Given the description of an element on the screen output the (x, y) to click on. 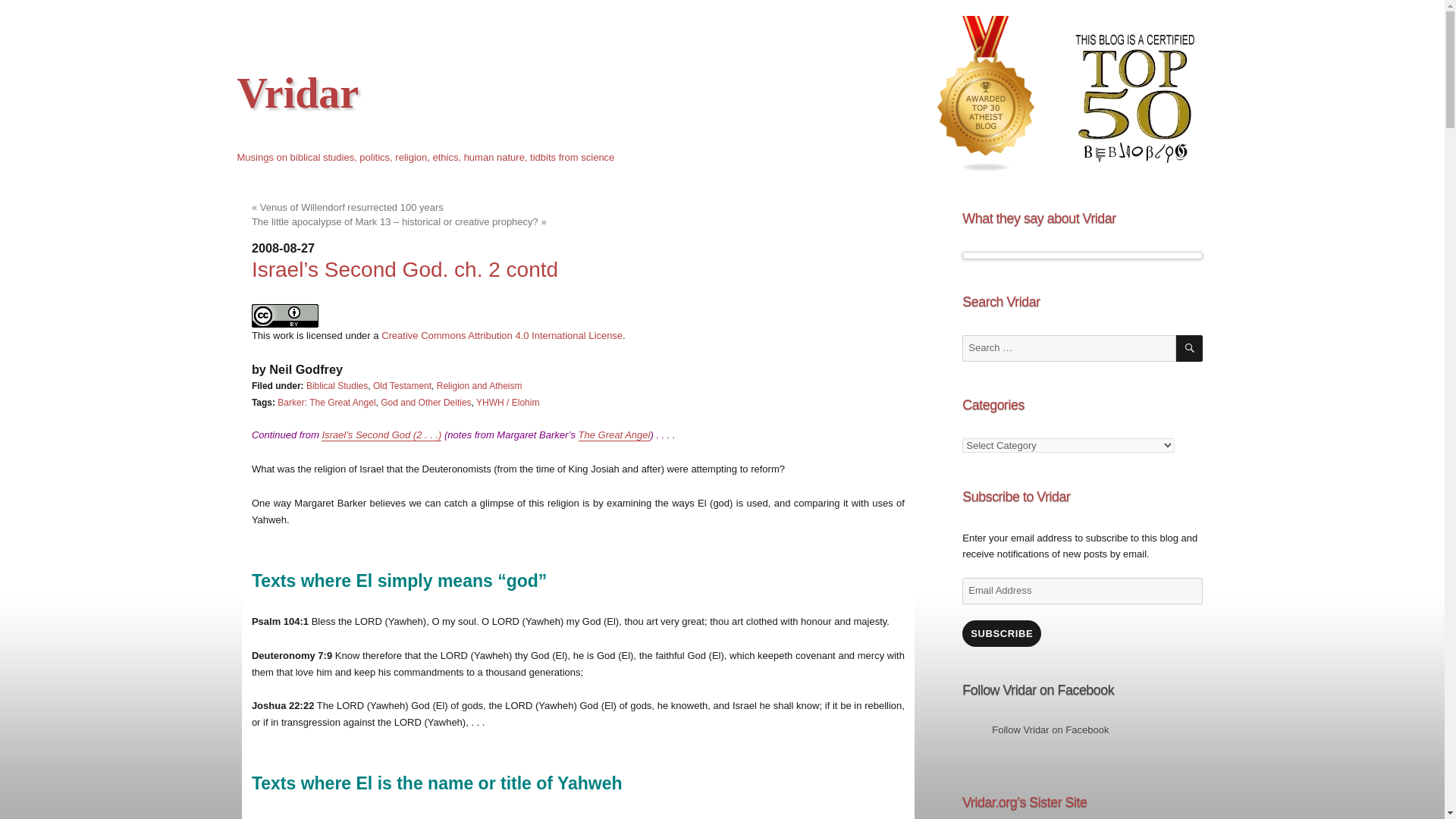
Old Testament (401, 385)
Biblical Studies (336, 385)
Vridar (296, 93)
Religion and Atheism (479, 385)
God and Other Deities (425, 402)
Creative Commons Attribution 4.0 International License (502, 335)
The Great Angel (614, 434)
Barker: The Great Angel (326, 402)
